Given the description of an element on the screen output the (x, y) to click on. 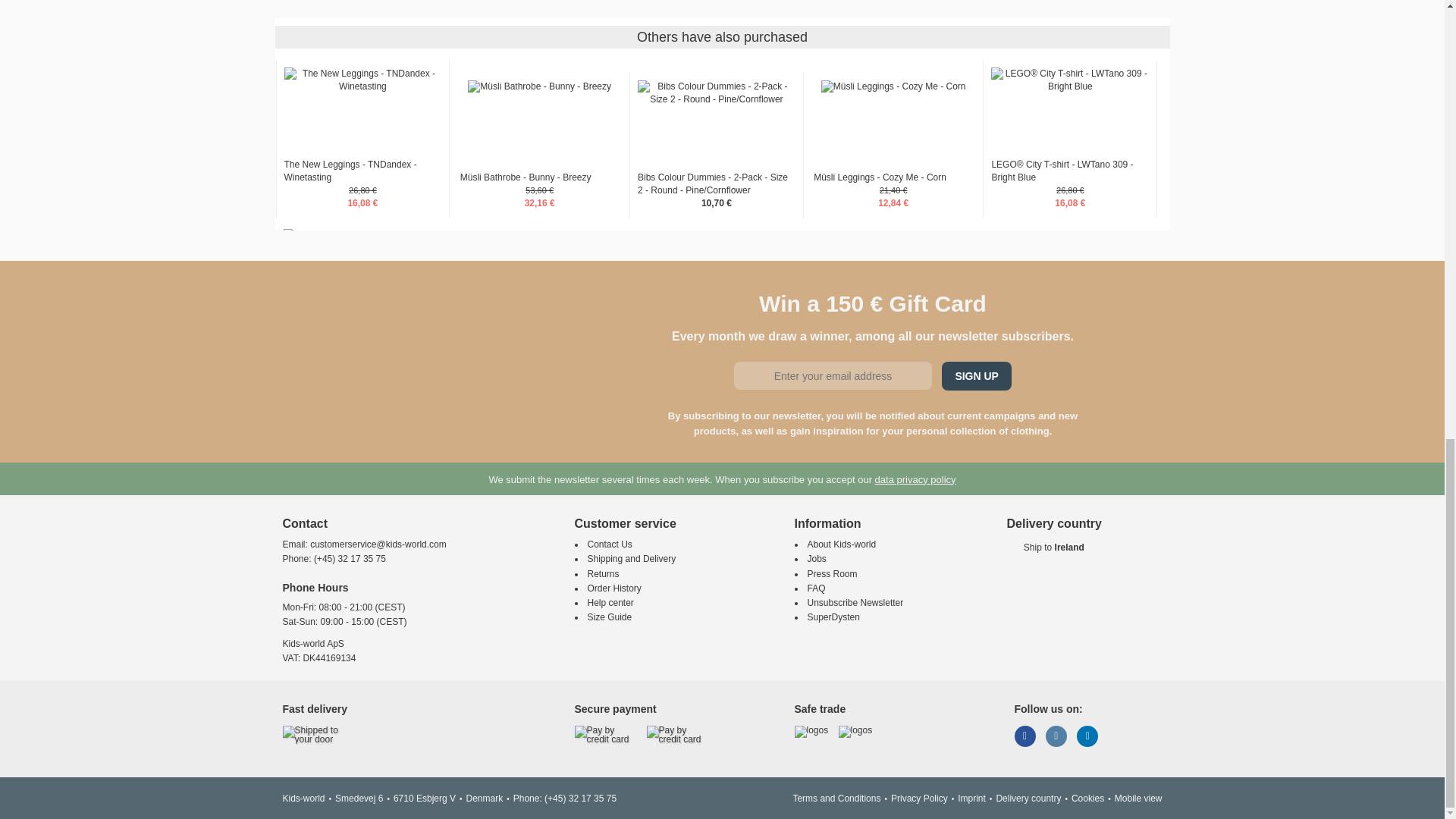
Intex Kiddy Pool - Sunset Glow Pool - 147X33 cm - 299 L (362, 241)
LinkedIn (1087, 736)
The New Leggings - TNDandex - Winetasting (362, 80)
Facebook (1024, 736)
Instagram (1056, 736)
CO2 Neutral Website (855, 730)
